Given the description of an element on the screen output the (x, y) to click on. 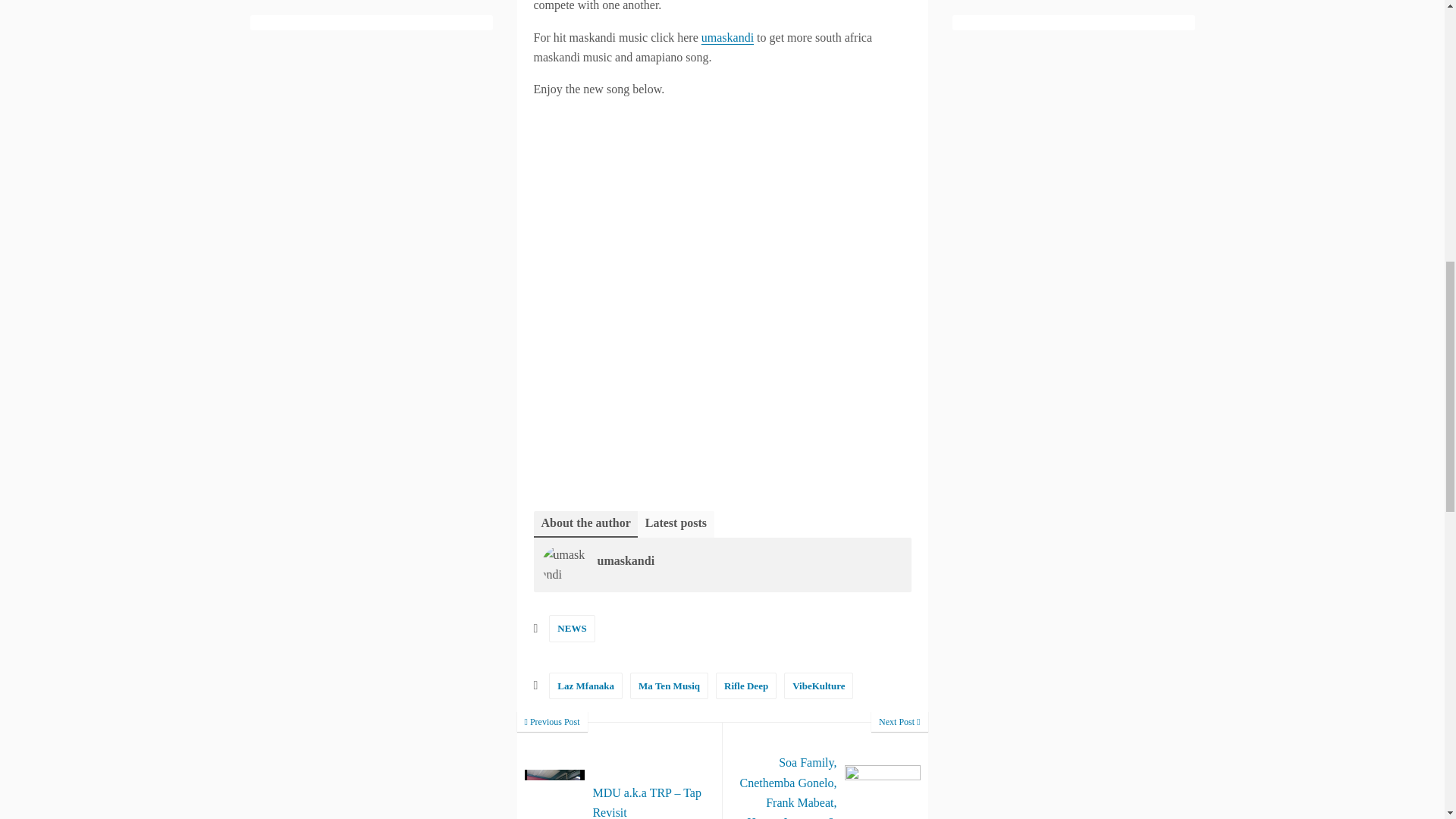
Laz Mfanaka (585, 685)
VibeKulture (818, 685)
umaskandi (727, 37)
NEWS (571, 628)
Rifle Deep (746, 685)
Ma Ten Musiq (668, 685)
